Given the description of an element on the screen output the (x, y) to click on. 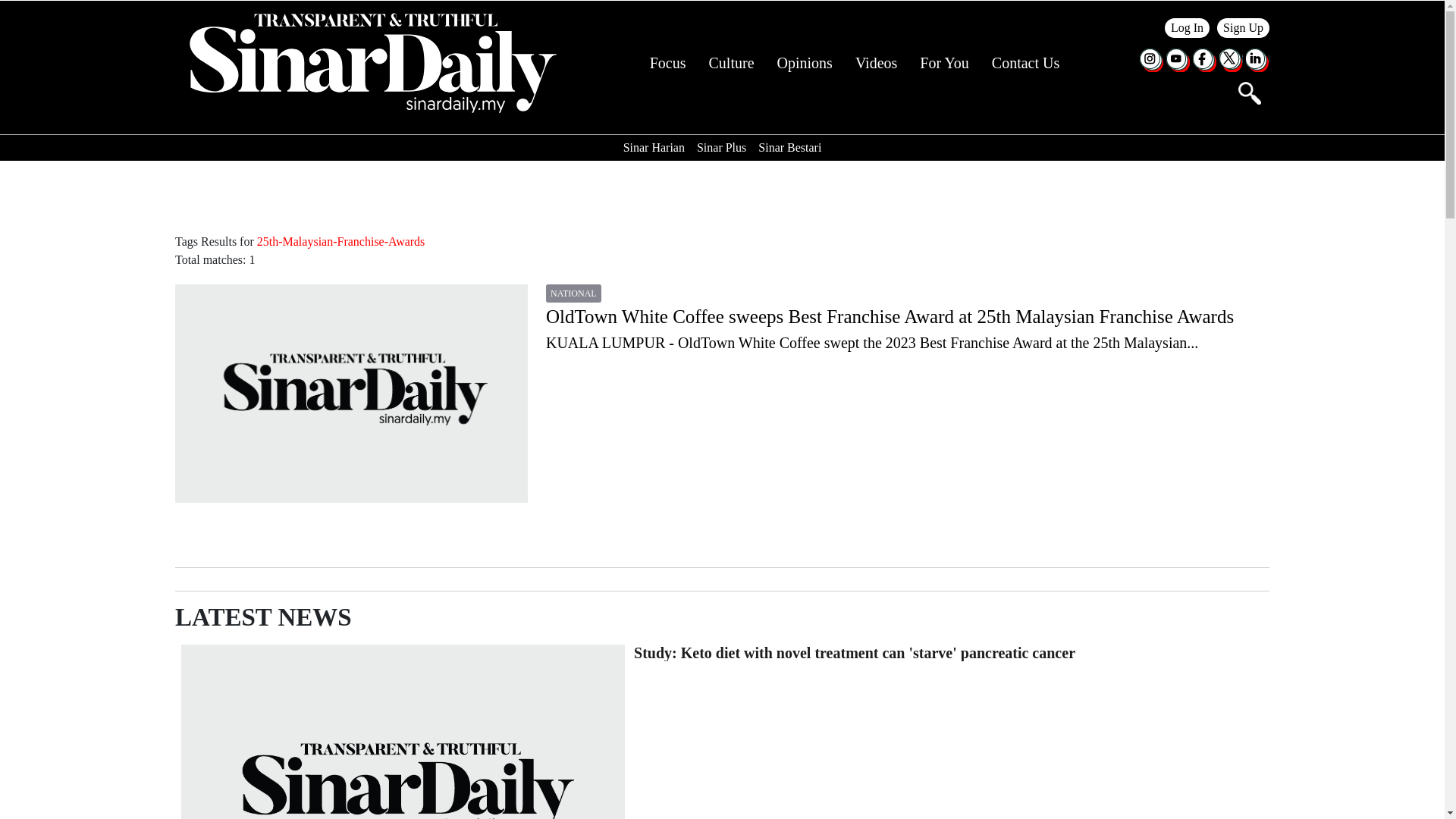
For You (944, 63)
Opinions (804, 63)
Log In (1186, 27)
Contact Us (1025, 63)
signup (1243, 27)
Sinar Bestari (789, 147)
